Given the description of an element on the screen output the (x, y) to click on. 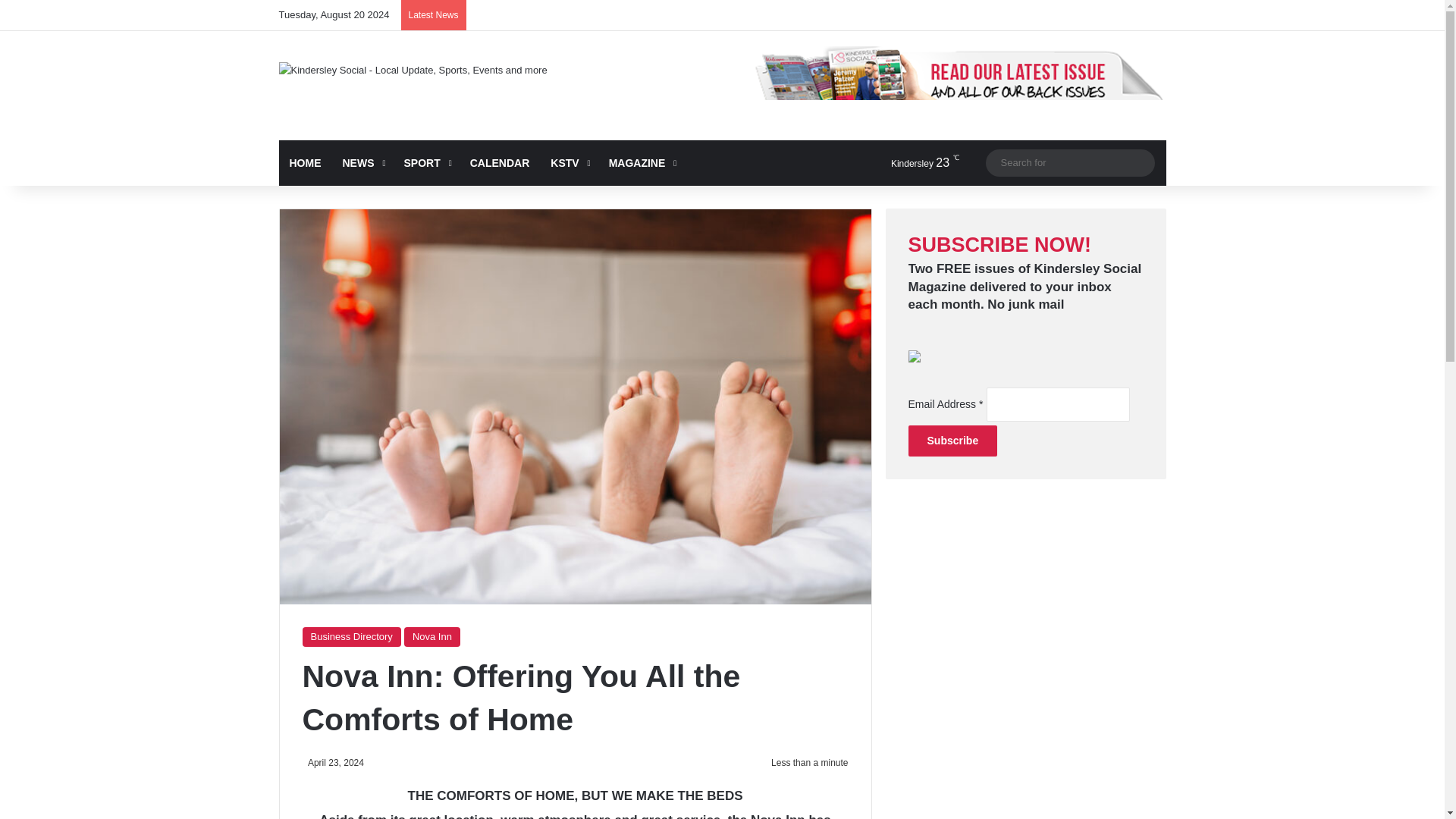
SPORT (425, 162)
Scattered Clouds (911, 162)
NEWS (362, 162)
HOME (305, 162)
Subscribe (952, 440)
Kindersley Social - Local Update, Sports, Events and more (413, 69)
Search for (1069, 162)
